Given the description of an element on the screen output the (x, y) to click on. 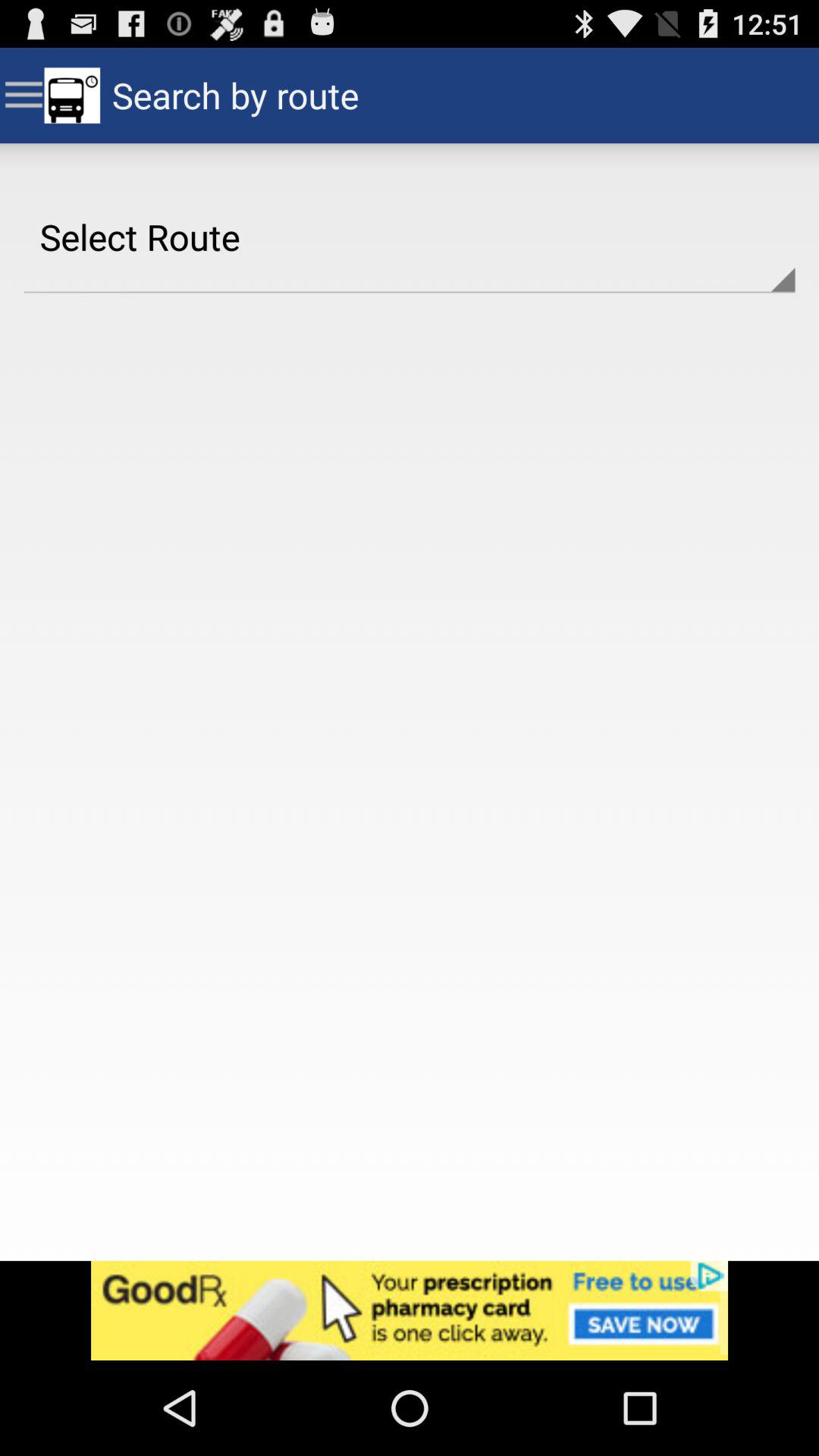
open advertisements (409, 1310)
